Given the description of an element on the screen output the (x, y) to click on. 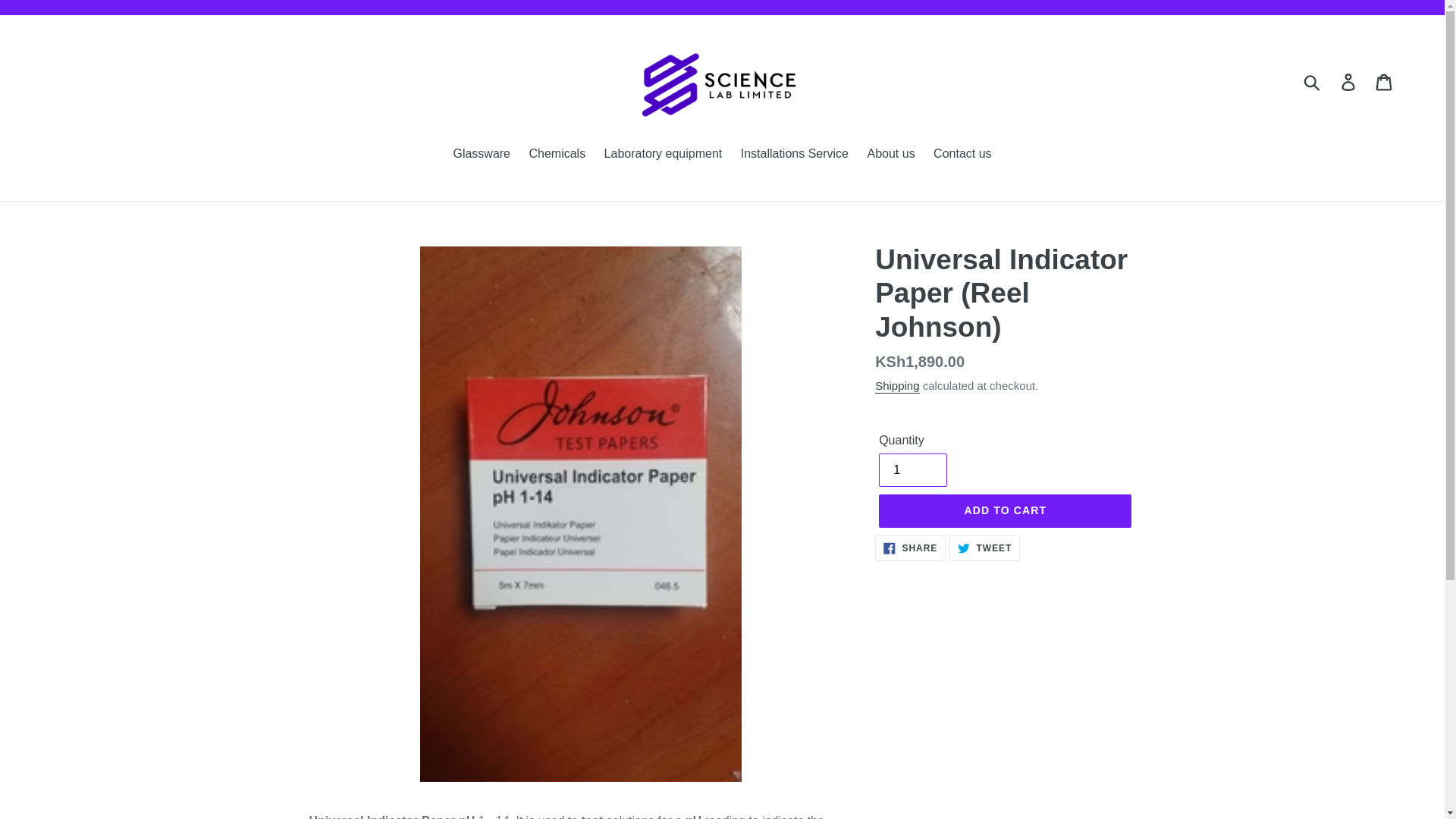
Log in (1349, 81)
About us (890, 154)
Laboratory equipment (909, 548)
Shipping (663, 154)
Cart (896, 386)
1 (1385, 81)
Chemicals (913, 469)
Installations Service (556, 154)
Glassware (794, 154)
Contact us (481, 154)
ADD TO CART (962, 154)
Submit (1005, 510)
